Given the description of an element on the screen output the (x, y) to click on. 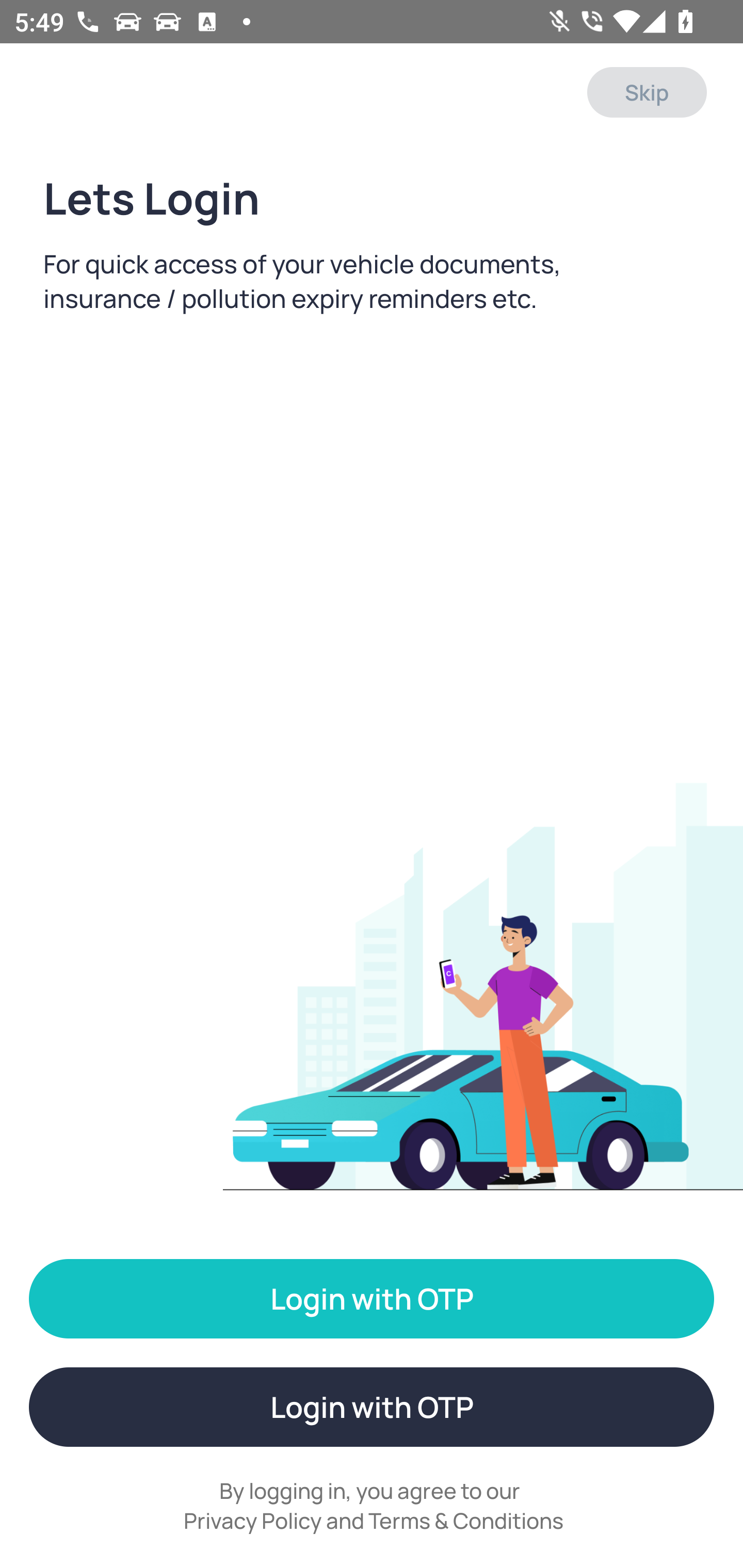
Skip (646, 92)
Login with OTP (371, 1299)
Login with OTP (371, 1407)
